Given the description of an element on the screen output the (x, y) to click on. 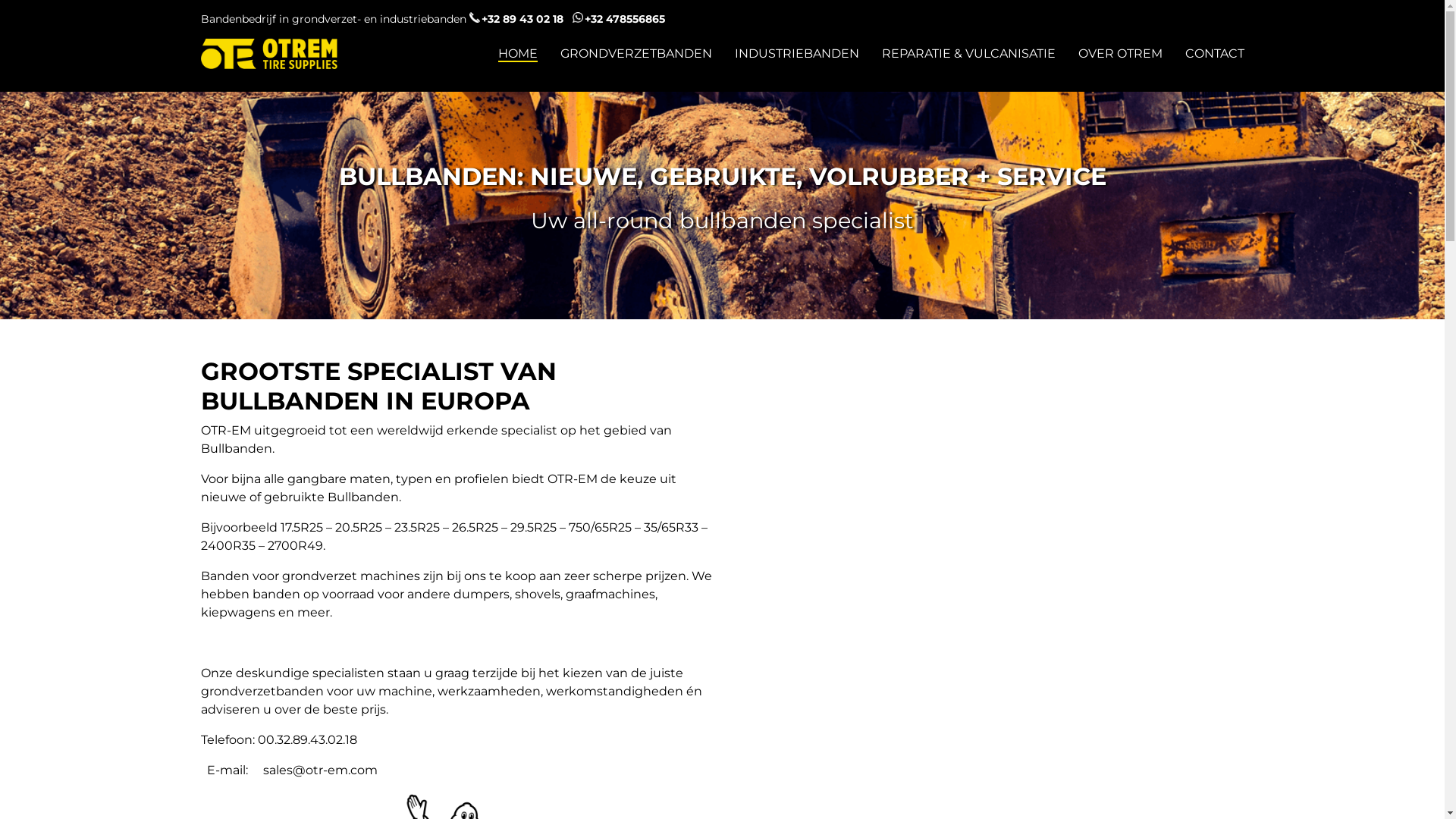
+32 89 43 02 18 Element type: text (515, 18)
HOME Element type: text (516, 53)
INDUSTRIEBANDEN Element type: text (796, 53)
CONTACT Element type: text (1213, 53)
GRONDVERZETBANDEN Element type: text (635, 53)
OVER OTREM Element type: text (1120, 53)
+32 478556865 Element type: text (617, 18)
REPARATIE & VULCANISATIE Element type: text (967, 53)
